Given the description of an element on the screen output the (x, y) to click on. 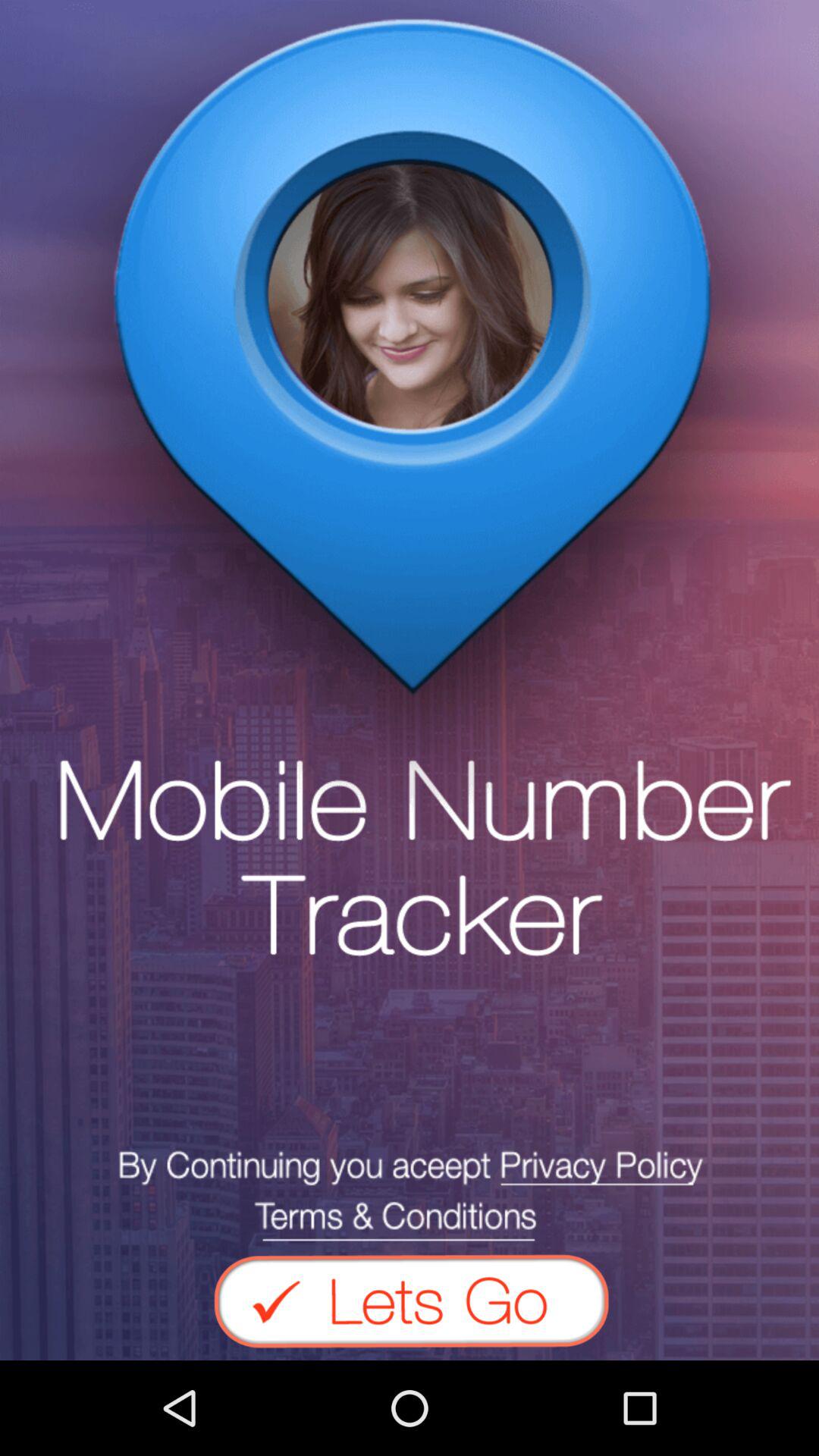
terms conditions (409, 1195)
